Given the description of an element on the screen output the (x, y) to click on. 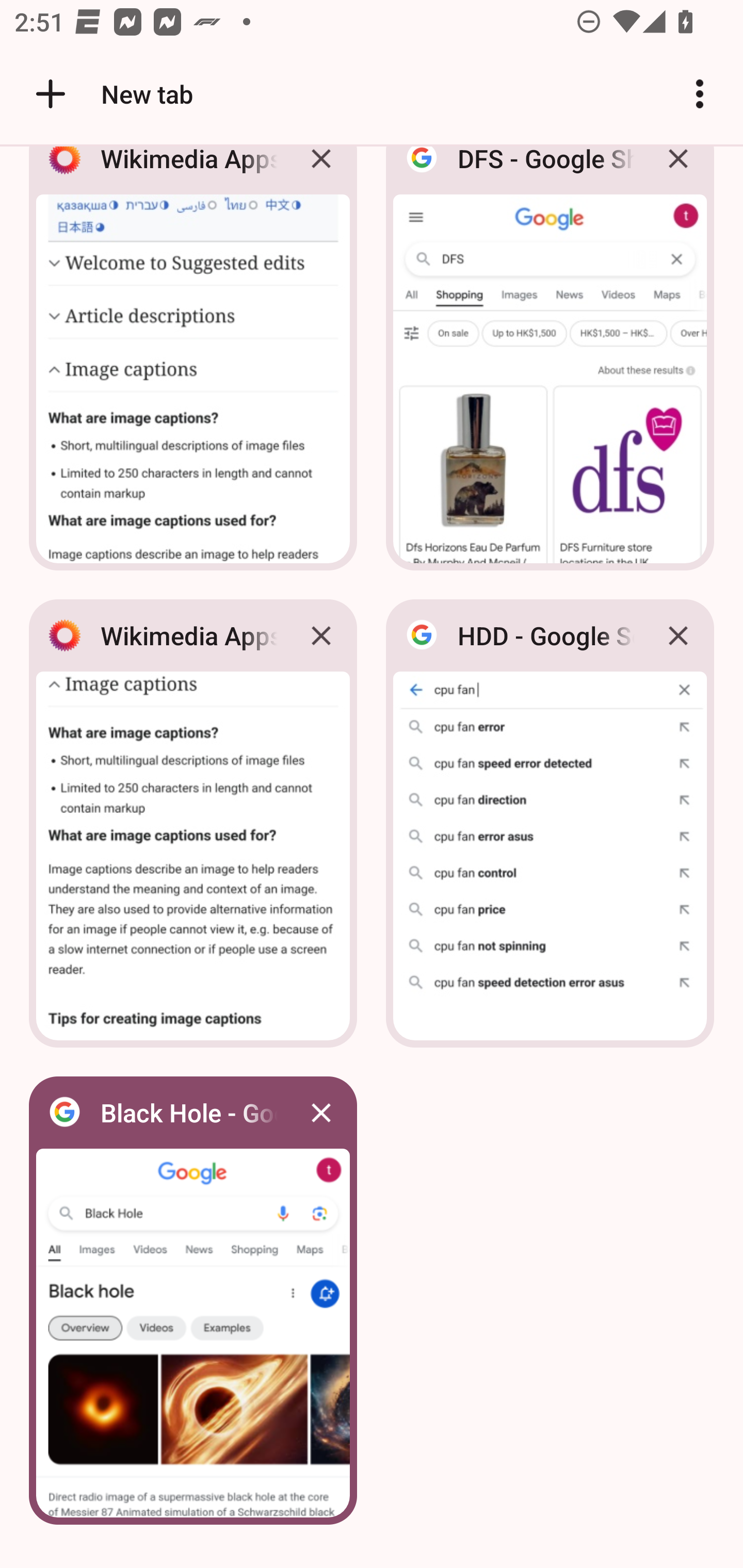
New tab (111, 93)
Customize and control Google Chrome (699, 93)
Close DFS - Google Shopping tab (677, 173)
Close HDD - Google Search tab (677, 635)
Close Black Hole - Google Search tab (320, 1112)
